Given the description of an element on the screen output the (x, y) to click on. 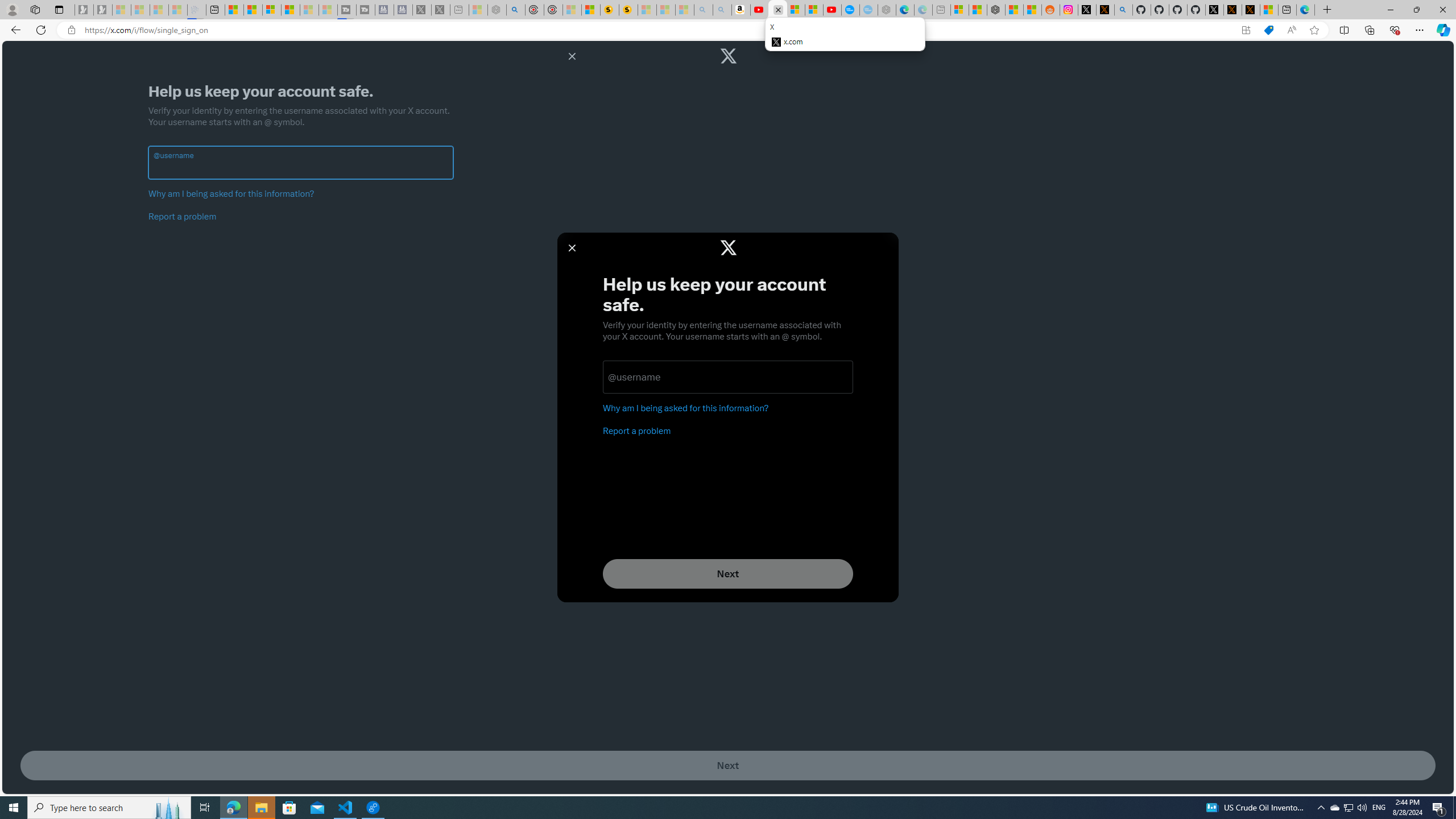
New tab - Sleeping (941, 9)
X - Sleeping (440, 9)
Nordace - Nordace has arrived Hong Kong - Sleeping (887, 9)
Newsletter Sign Up - Sleeping (102, 9)
